Given the description of an element on the screen output the (x, y) to click on. 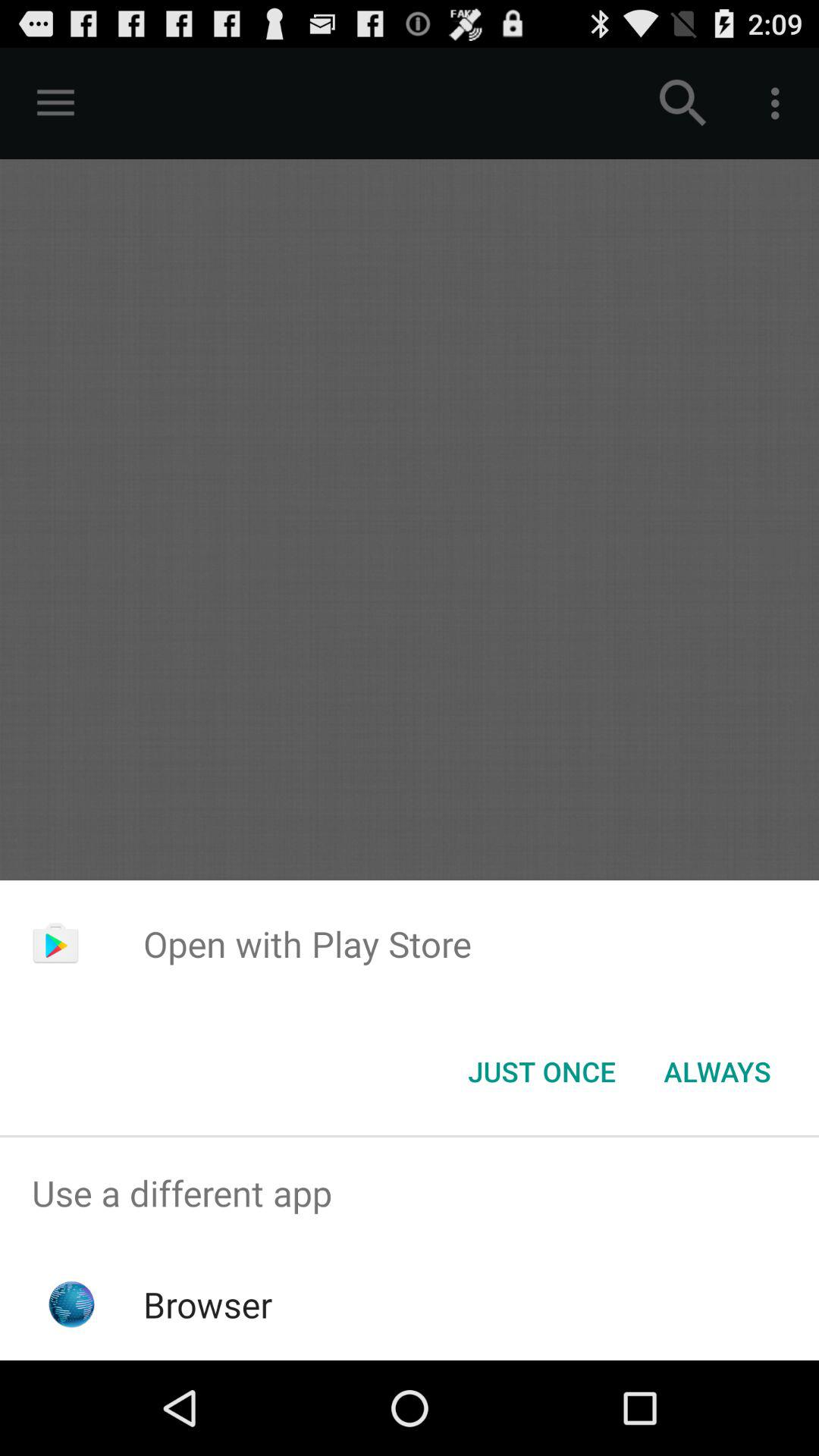
tap icon above browser icon (409, 1192)
